Given the description of an element on the screen output the (x, y) to click on. 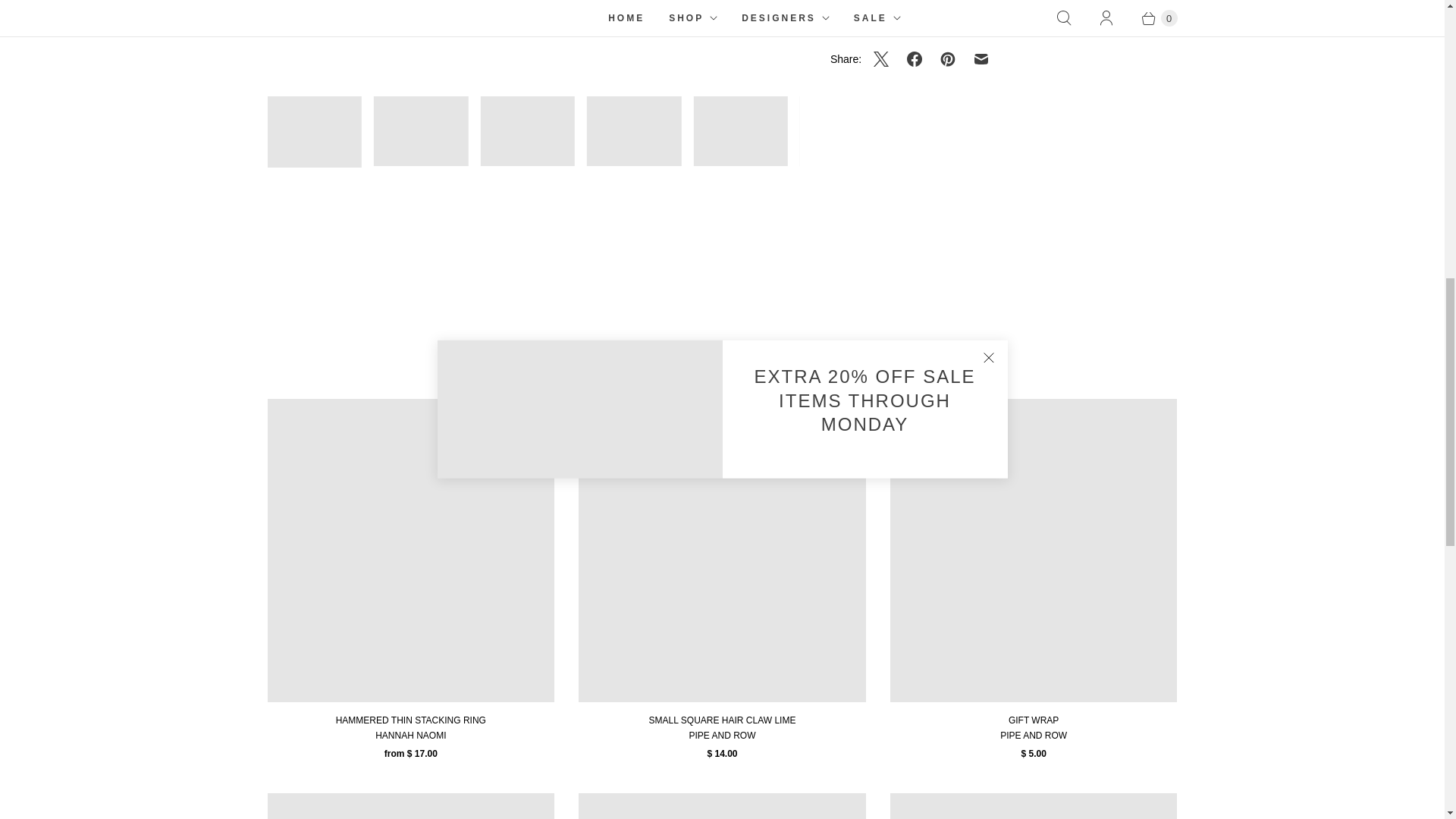
Share this on Pinterest (947, 59)
Share this on Facebook (914, 59)
Email this to a friend (980, 59)
